Given the description of an element on the screen output the (x, y) to click on. 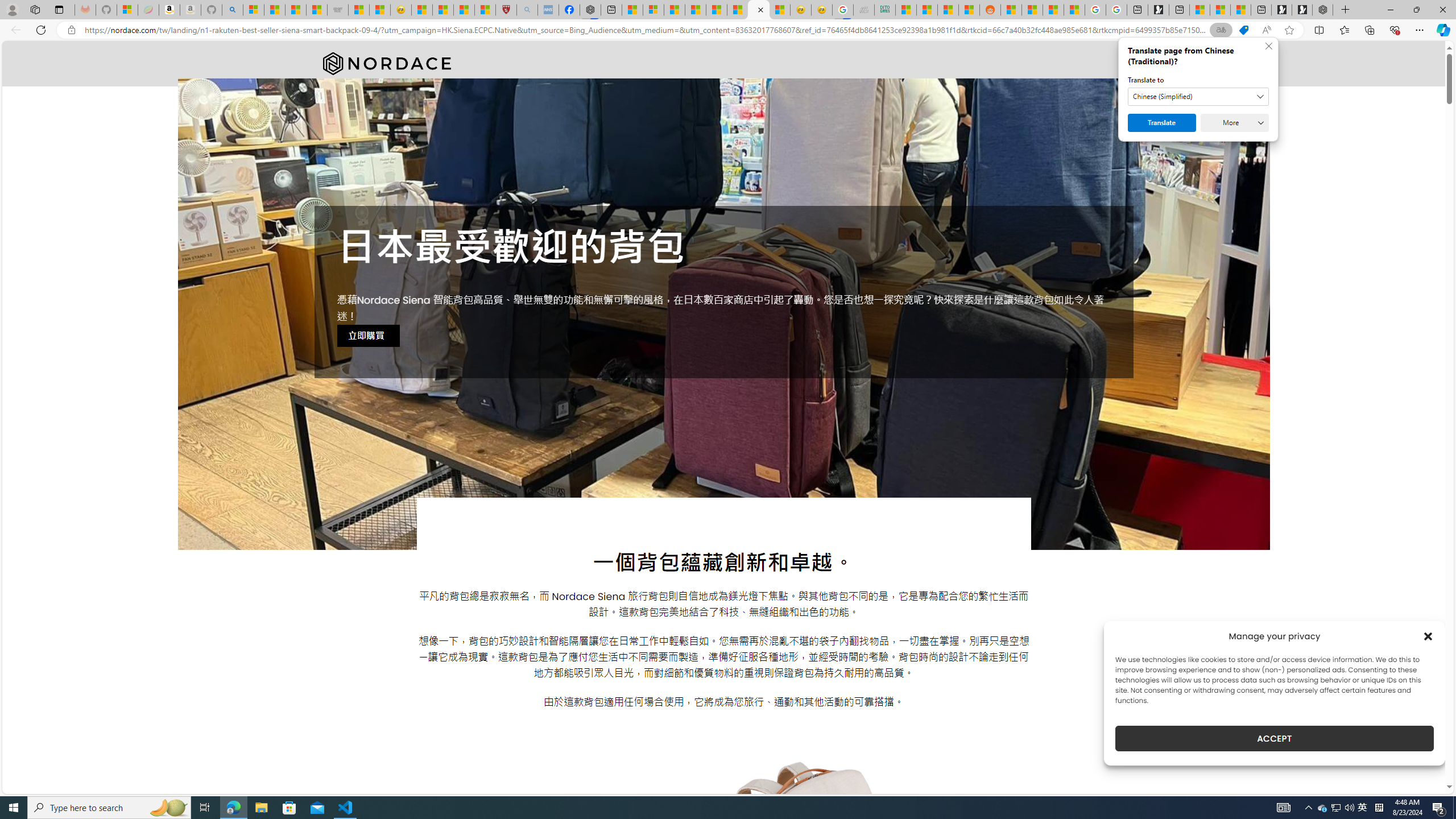
R******* | Trusted Community Engagement and Contributions (1010, 9)
Translate to (1198, 96)
More (1234, 122)
